Given the description of an element on the screen output the (x, y) to click on. 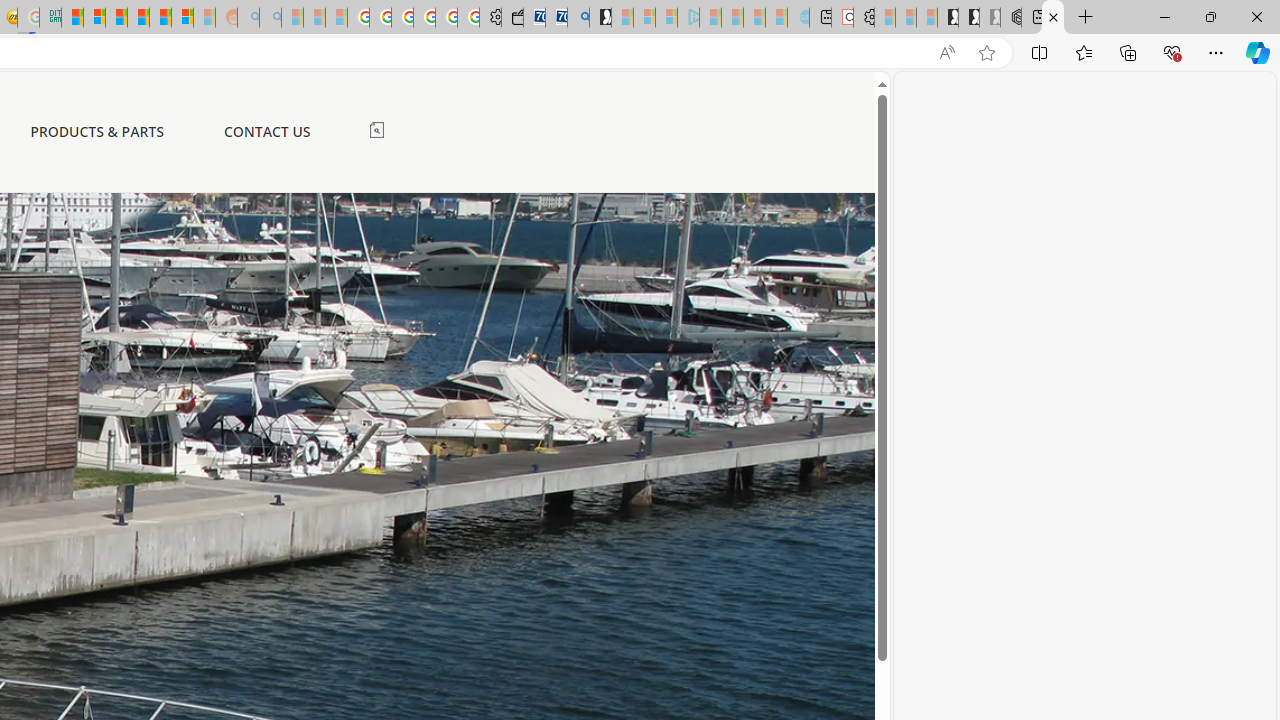
PRODUCTS & PARTS (97, 131)
Expert Portfolios (138, 17)
